Given the description of an element on the screen output the (x, y) to click on. 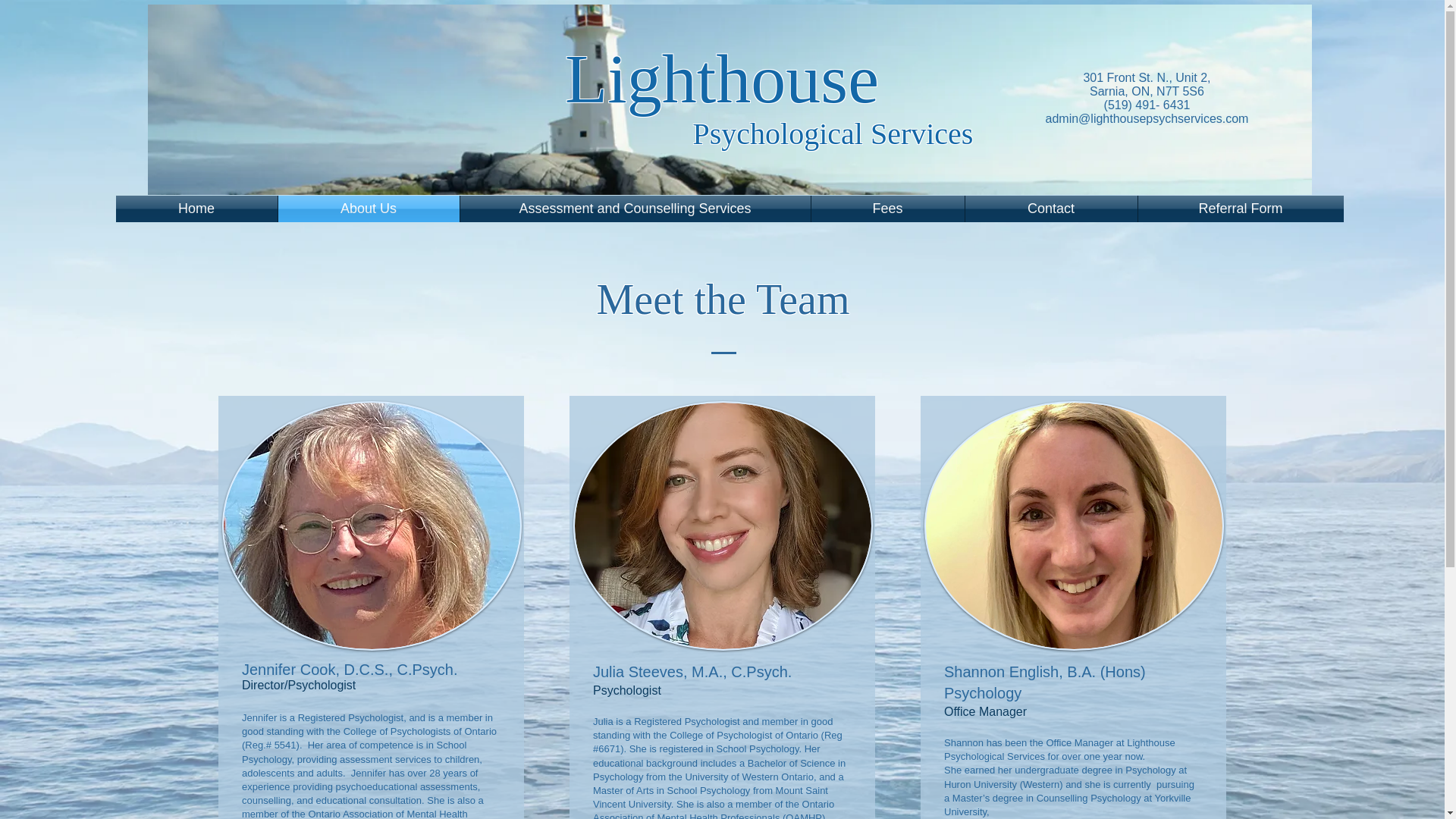
About Us (368, 208)
Assessment and Counselling Services (634, 208)
Contact (1050, 208)
Home (195, 208)
Fees (886, 208)
Referral Form (1239, 208)
